Given the description of an element on the screen output the (x, y) to click on. 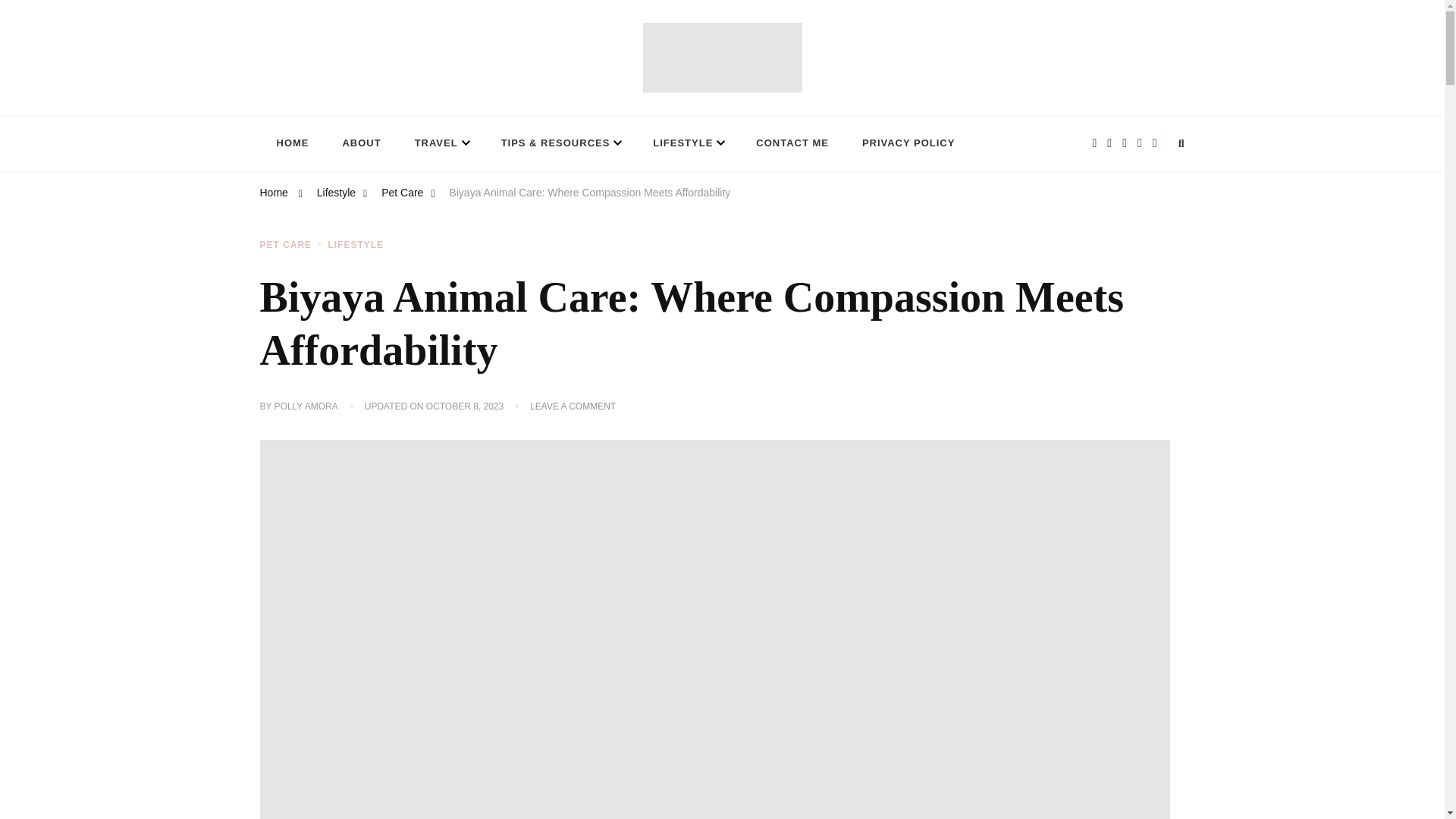
TRAVEL (440, 143)
HOME (291, 143)
ABOUT (360, 143)
GoldenIslandSenorita.Net (385, 107)
